Given the description of an element on the screen output the (x, y) to click on. 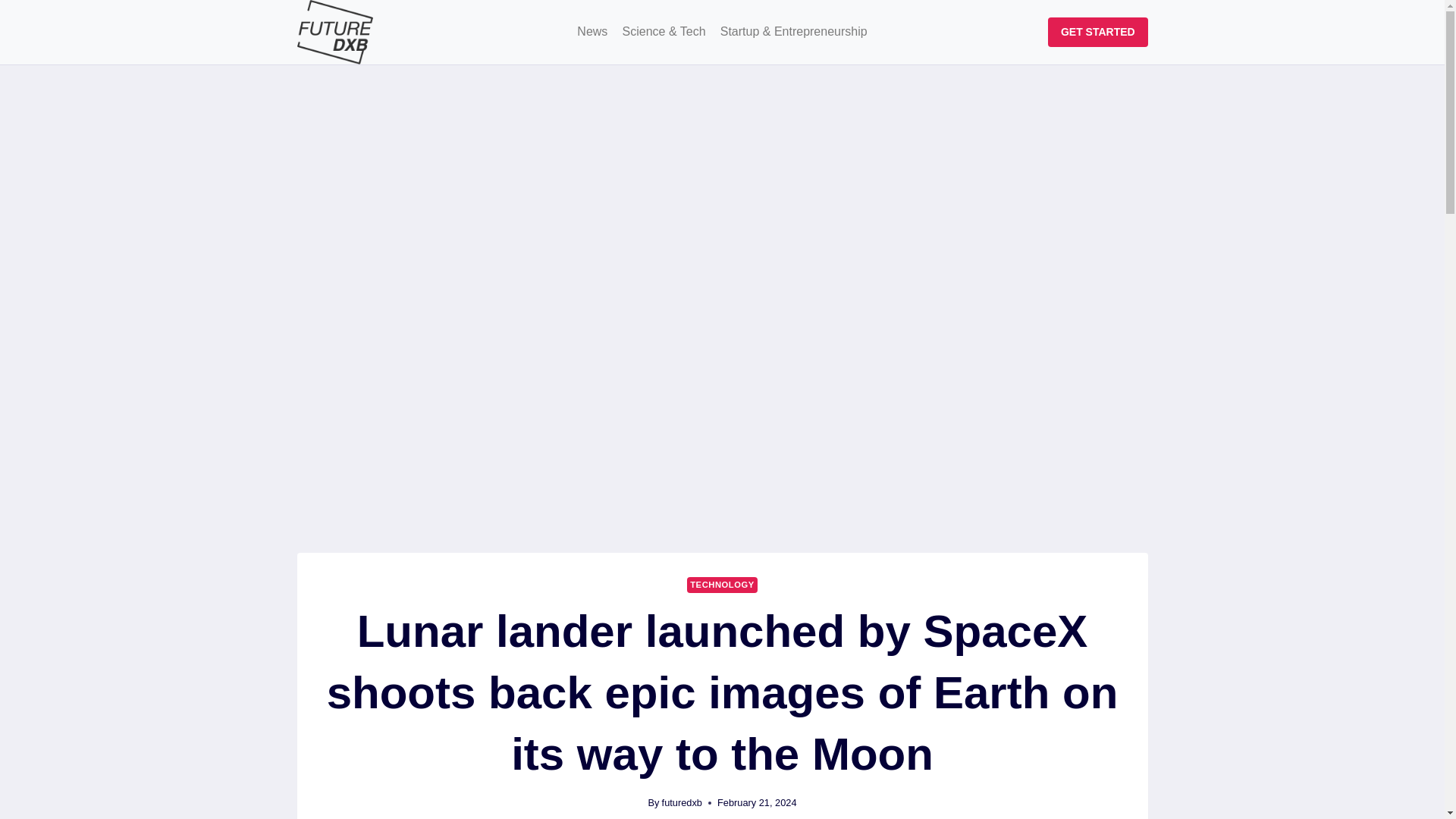
futuredxb (681, 802)
GET STARTED (1097, 31)
TECHNOLOGY (722, 584)
News (592, 32)
